Given the description of an element on the screen output the (x, y) to click on. 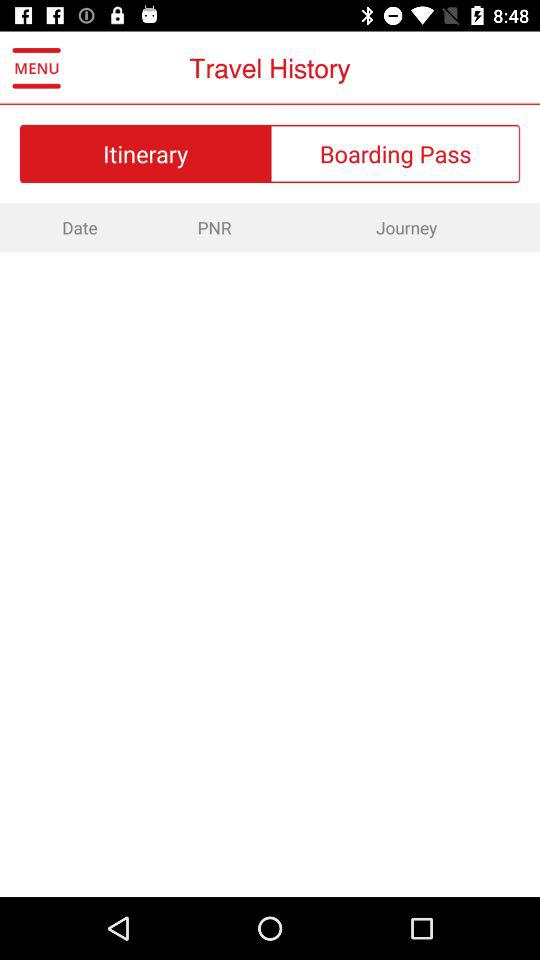
select icon to the left of the journey icon (214, 227)
